Given the description of an element on the screen output the (x, y) to click on. 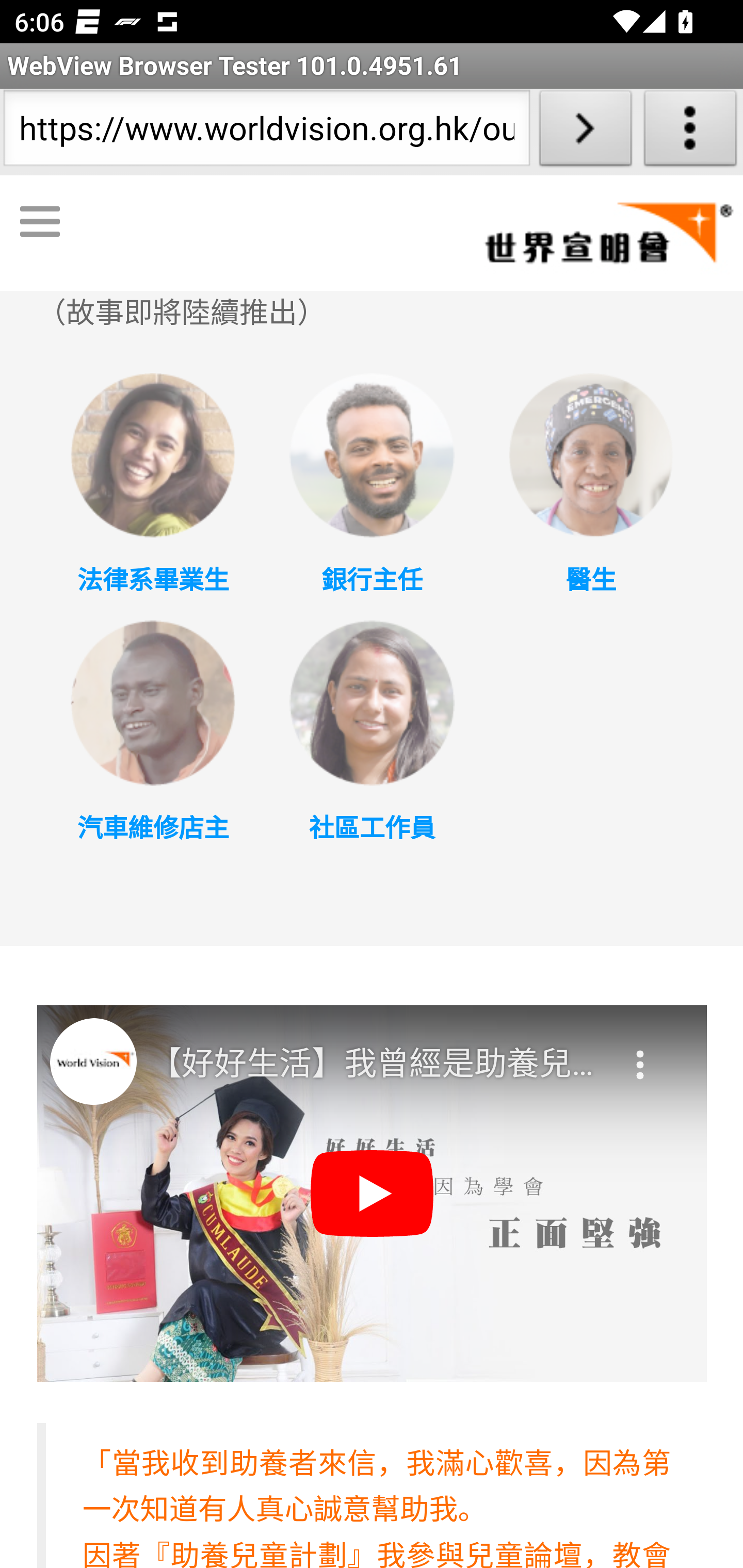
Load URL (585, 132)
About WebView (690, 132)
2024CS_watn_icn01 (152, 455)
2024CS_watn_icn02 (371, 455)
2024CS_watn_icn03 (590, 455)
法律系畢業生 法律系畢業生 法律系畢業生 (152, 580)
銀行主任 銀行主任 銀行主任 (371, 580)
醫生 醫生 醫生 (590, 580)
2024CS_watn_icn04 (152, 703)
2024CS_watn_icn05 (371, 703)
汽車維修店主 汽車維修店主 汽車維修店主 (152, 826)
社區工作員 社區工作員 社區工作員 (371, 826)
More (641, 1052)
Photo image of World Vision Hong Kong香港世界宣明會 (92, 1062)
【好好生活】我曾經是助養兒童──婉婉(印尼) (373, 1064)
Play (372, 1194)
